Given the description of an element on the screen output the (x, y) to click on. 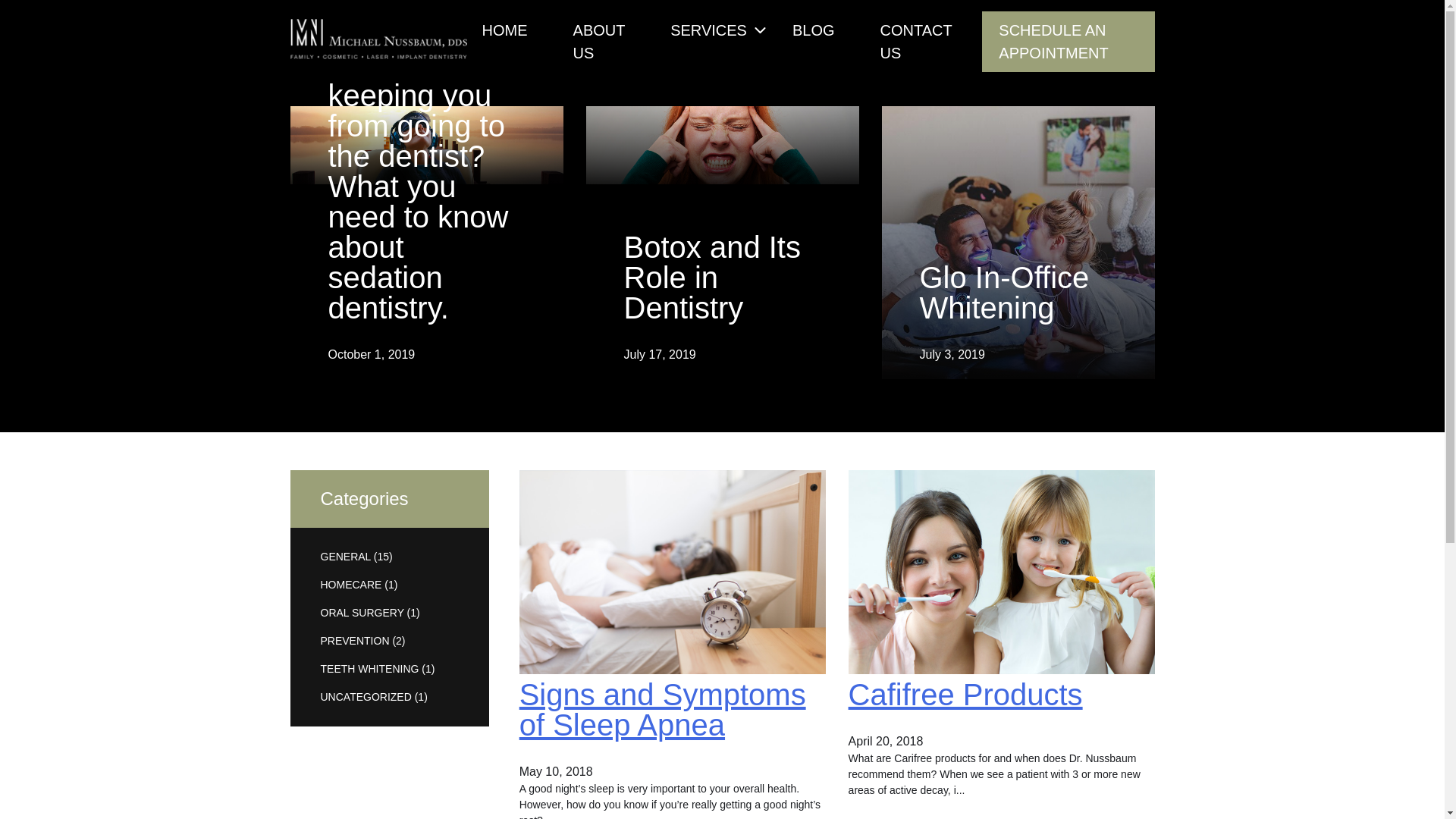
CONTACT US Element type: text (915, 41)
Glo In-Office Whitening
July 3, 2019 Element type: text (1017, 242)
BLOG Element type: text (813, 30)
Signs and Symptoms of Sleep Apnea Element type: text (662, 709)
TEETH WHITENING Element type: text (369, 668)
360 Dental Element type: text (318, 84)
PREVENTION Element type: text (354, 640)
HOME Element type: text (504, 30)
SCHEDULE AN APPOINTMENT Element type: text (1068, 41)
GENERAL Element type: text (345, 556)
HOMECARE Element type: text (350, 584)
SERVICES Element type: text (708, 30)
Botox and Its Role in Dentistry
July 17, 2019 Element type: text (721, 145)
ABOUT US Element type: text (599, 41)
UNCATEGORIZED Element type: text (365, 696)
Cafifree Products Element type: text (965, 694)
ORAL SURGERY Element type: text (361, 612)
